Given the description of an element on the screen output the (x, y) to click on. 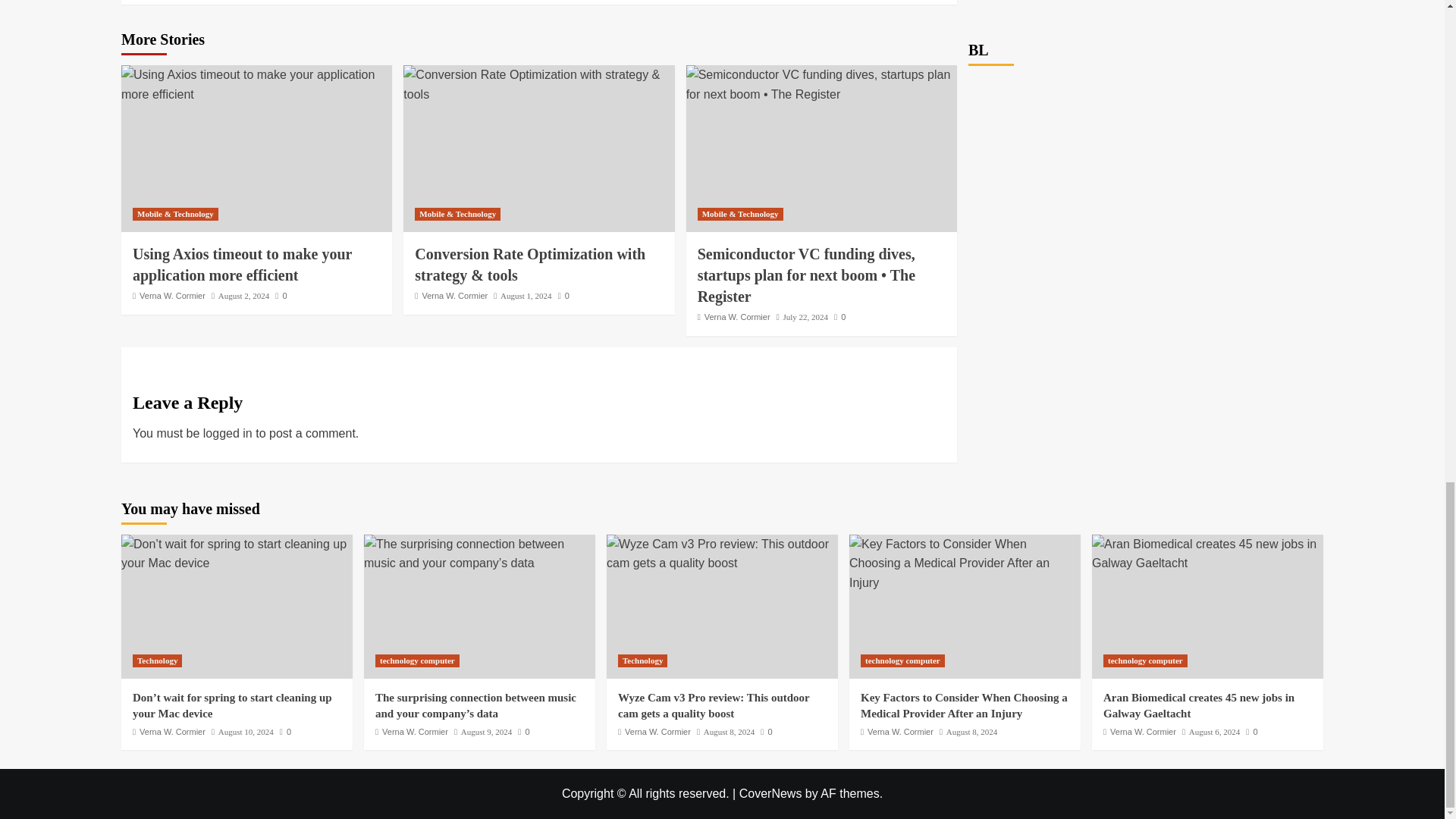
Verna W. Cormier (454, 295)
August 2, 2024 (243, 295)
Using Axios timeout to make your application more efficient (242, 264)
Aran Biomedical creates 45 new jobs in Galway Gaeltacht (1207, 553)
0 (280, 295)
August 1, 2024 (525, 295)
Using Axios timeout to make your application more efficient (255, 84)
Verna W. Cormier (172, 295)
